Given the description of an element on the screen output the (x, y) to click on. 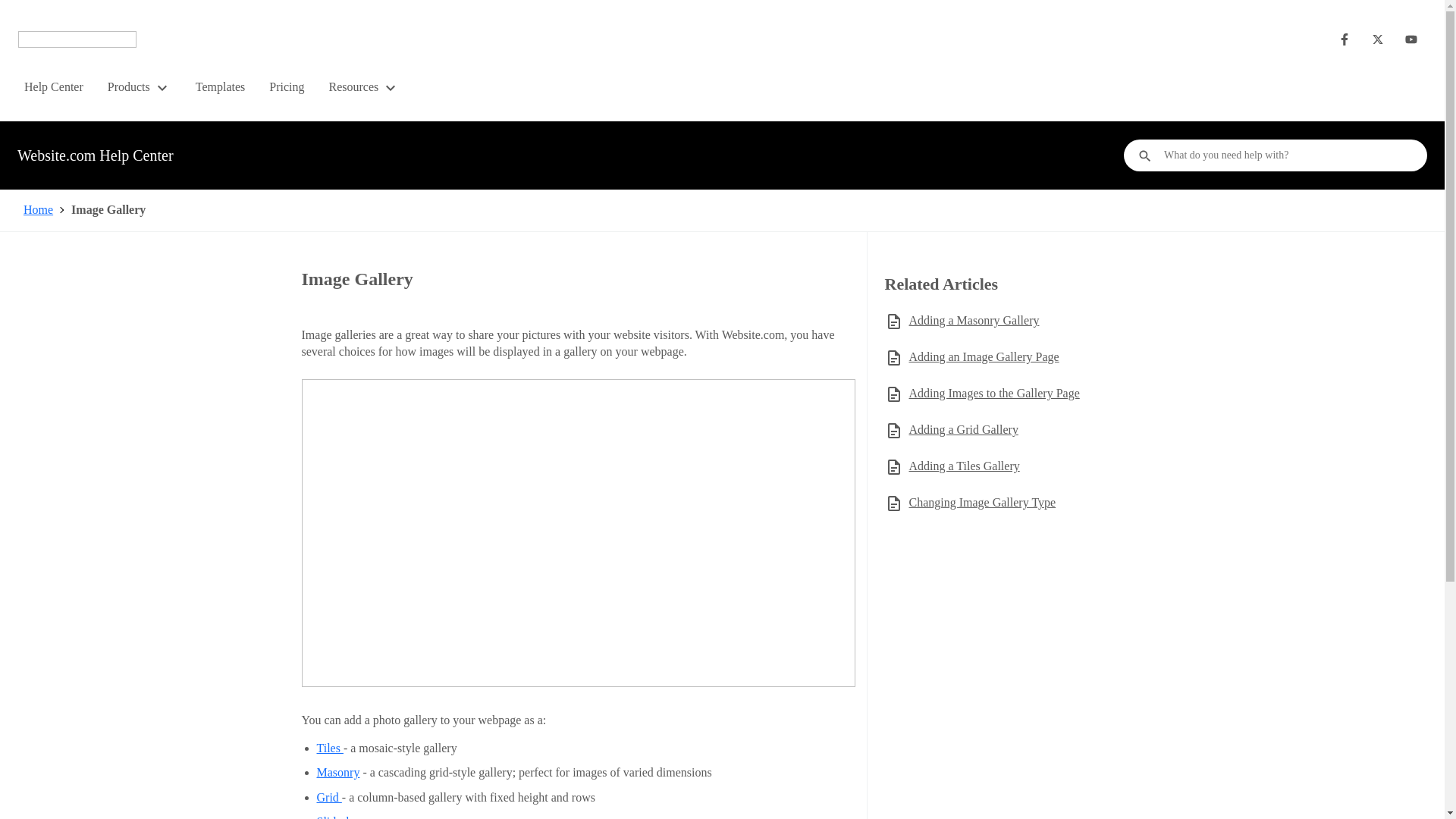
Help Center (53, 86)
Templates (220, 86)
Website.com Help Center (95, 155)
Grid (329, 797)
Masonry (338, 771)
Home (37, 209)
Tiles (330, 748)
Resources (364, 86)
Pricing (286, 86)
Products (139, 86)
